Given the description of an element on the screen output the (x, y) to click on. 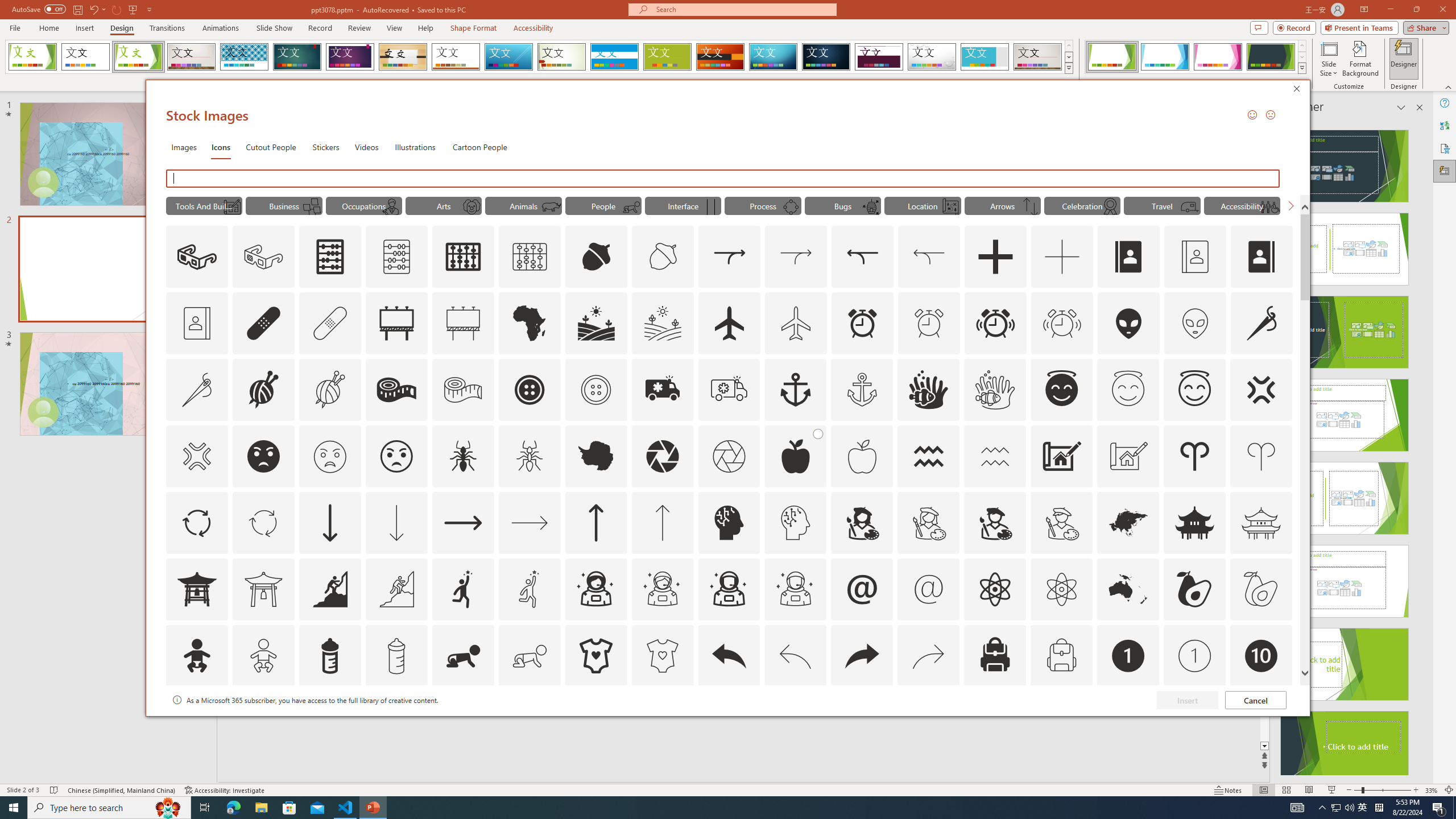
AutomationID: Icons_Agriculture (596, 323)
AutomationID: Icons_AlarmRinging (995, 323)
AutomationID: Icons_ArrowUp (595, 522)
AutomationID: Icons_ArtistFemale_M (928, 522)
Send a Frown (1269, 114)
AutomationID: Icons_Ambulance_M (729, 389)
